Given the description of an element on the screen output the (x, y) to click on. 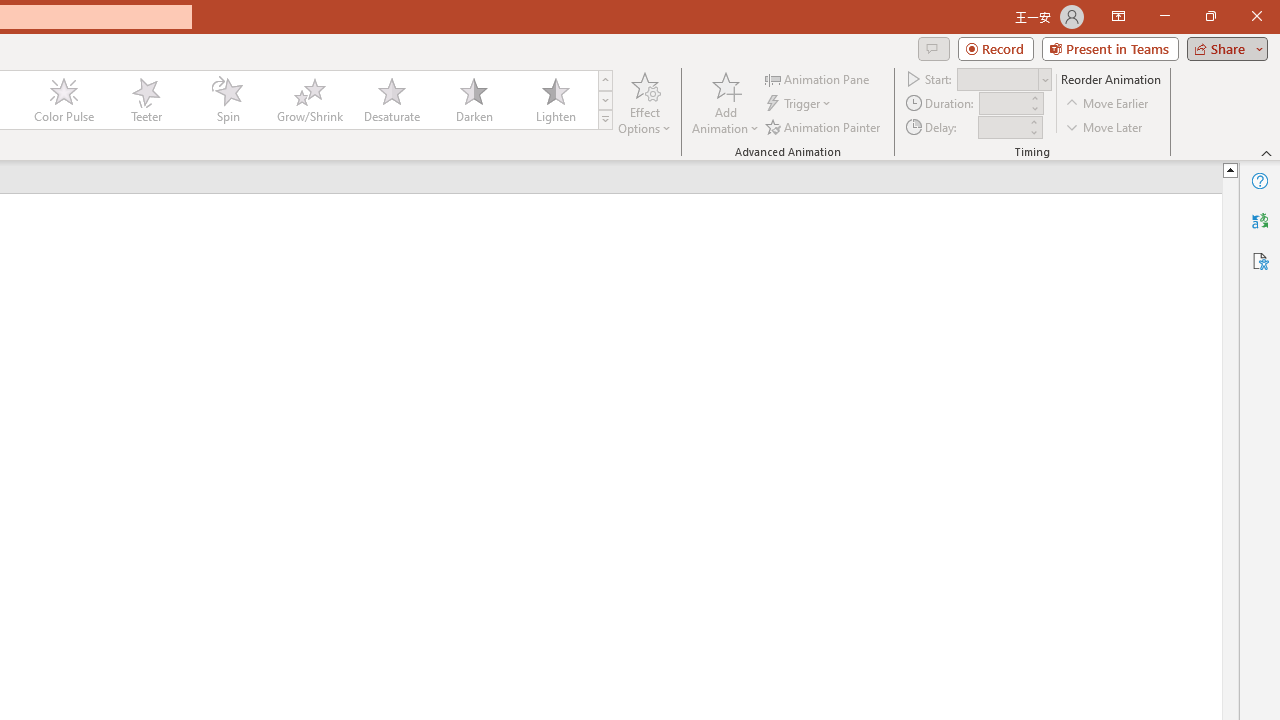
Effect Options (644, 102)
Less (1033, 132)
Move Earlier (1107, 103)
Grow/Shrink (309, 100)
Desaturate (391, 100)
Animation Pane (818, 78)
Animation Styles (605, 120)
Move Later (1105, 126)
Spin (227, 100)
